Given the description of an element on the screen output the (x, y) to click on. 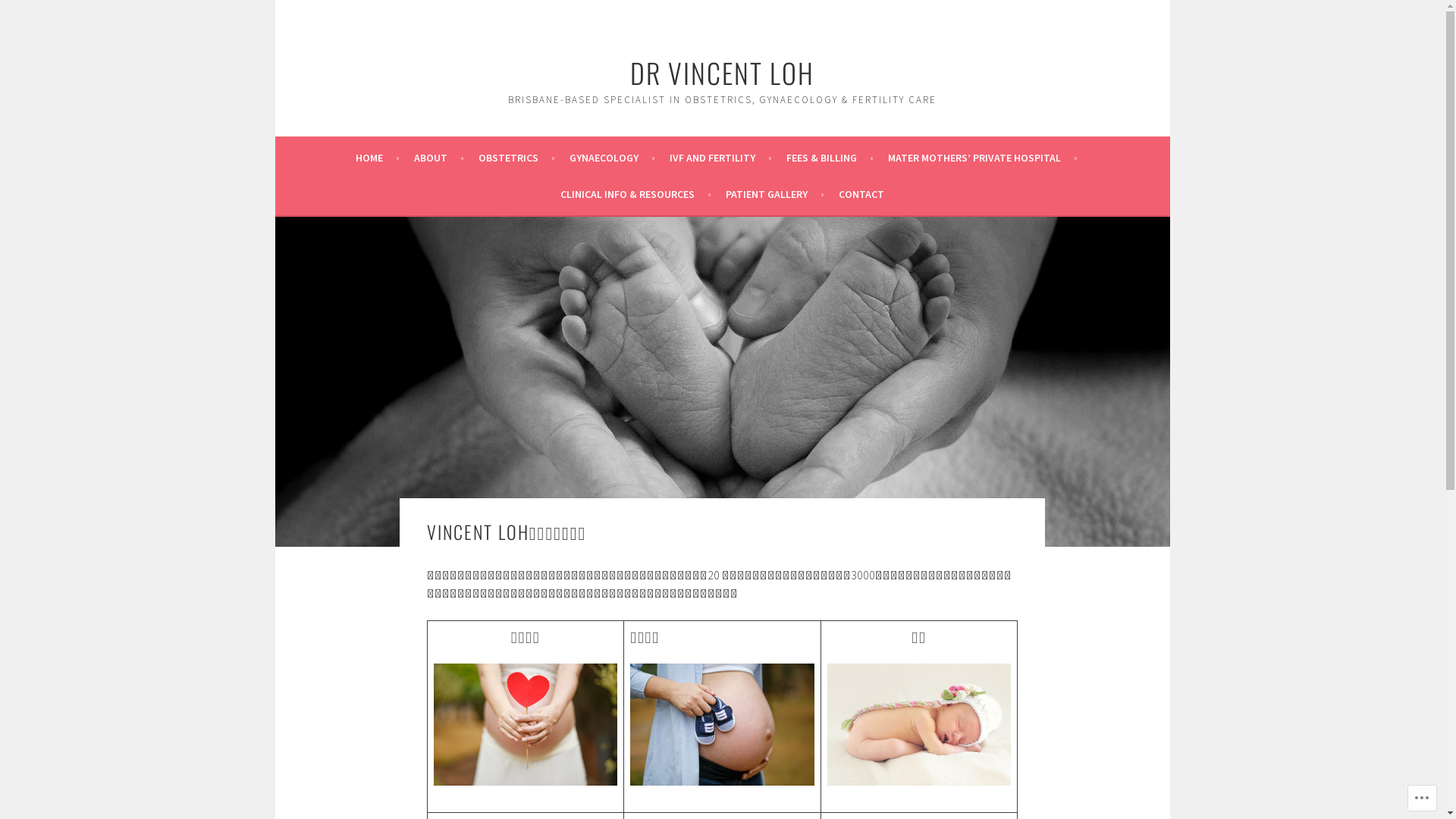
CLINICAL INFO & RESOURCES Element type: text (635, 194)
HOME Element type: text (376, 157)
PATIENT GALLERY Element type: text (774, 194)
DR VINCENT LOH Element type: text (722, 72)
ABOUT Element type: text (439, 157)
GYNAECOLOGY Element type: text (611, 157)
IVF AND FERTILITY Element type: text (719, 157)
OBSTETRICS Element type: text (515, 157)
FEES & BILLING Element type: text (828, 157)
CONTACT Element type: text (861, 194)
